Given the description of an element on the screen output the (x, y) to click on. 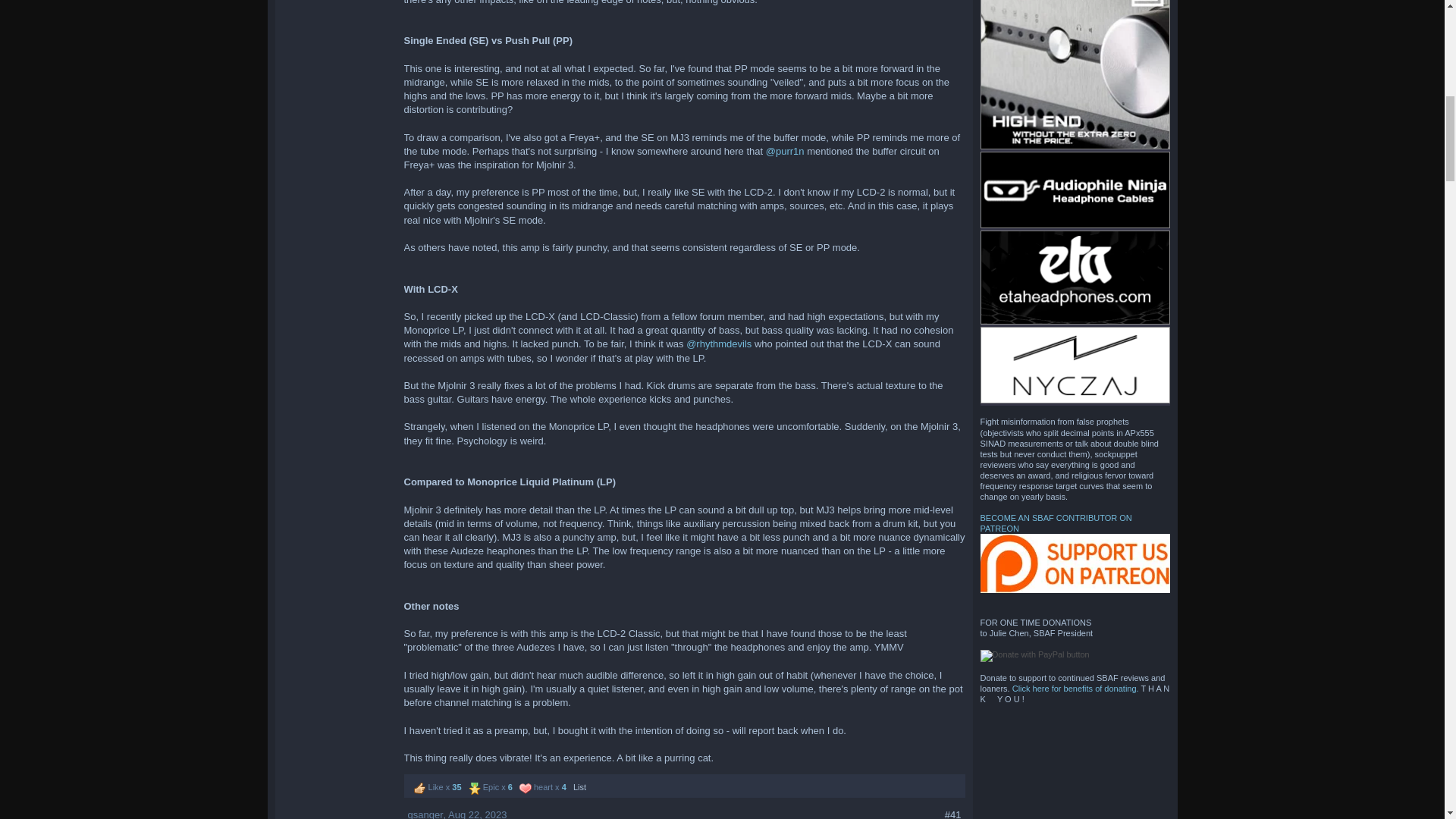
Like (419, 788)
heart (525, 788)
Permalink (952, 814)
Epic (474, 788)
Permalink (477, 814)
